Given the description of an element on the screen output the (x, y) to click on. 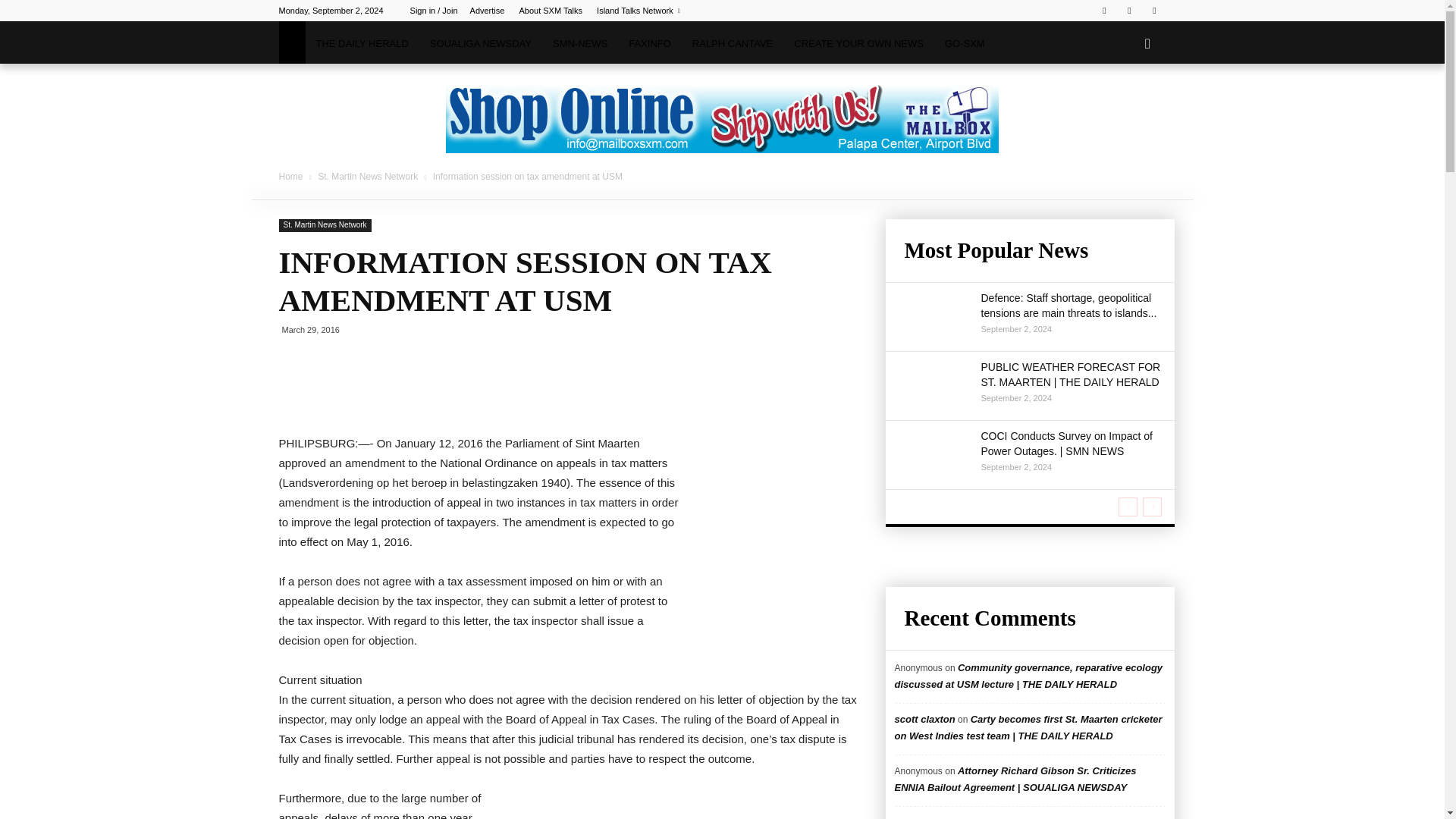
Twitter (1129, 10)
Facebook (1104, 10)
RALPH CANTAVE (732, 43)
View all posts in St. Martin News Network (368, 176)
About SXM Talks (550, 10)
Advertise (487, 10)
Island Talks Network (637, 10)
Youtube (1154, 10)
FAXINFO (649, 43)
SMN-NEWS (579, 43)
